Given the description of an element on the screen output the (x, y) to click on. 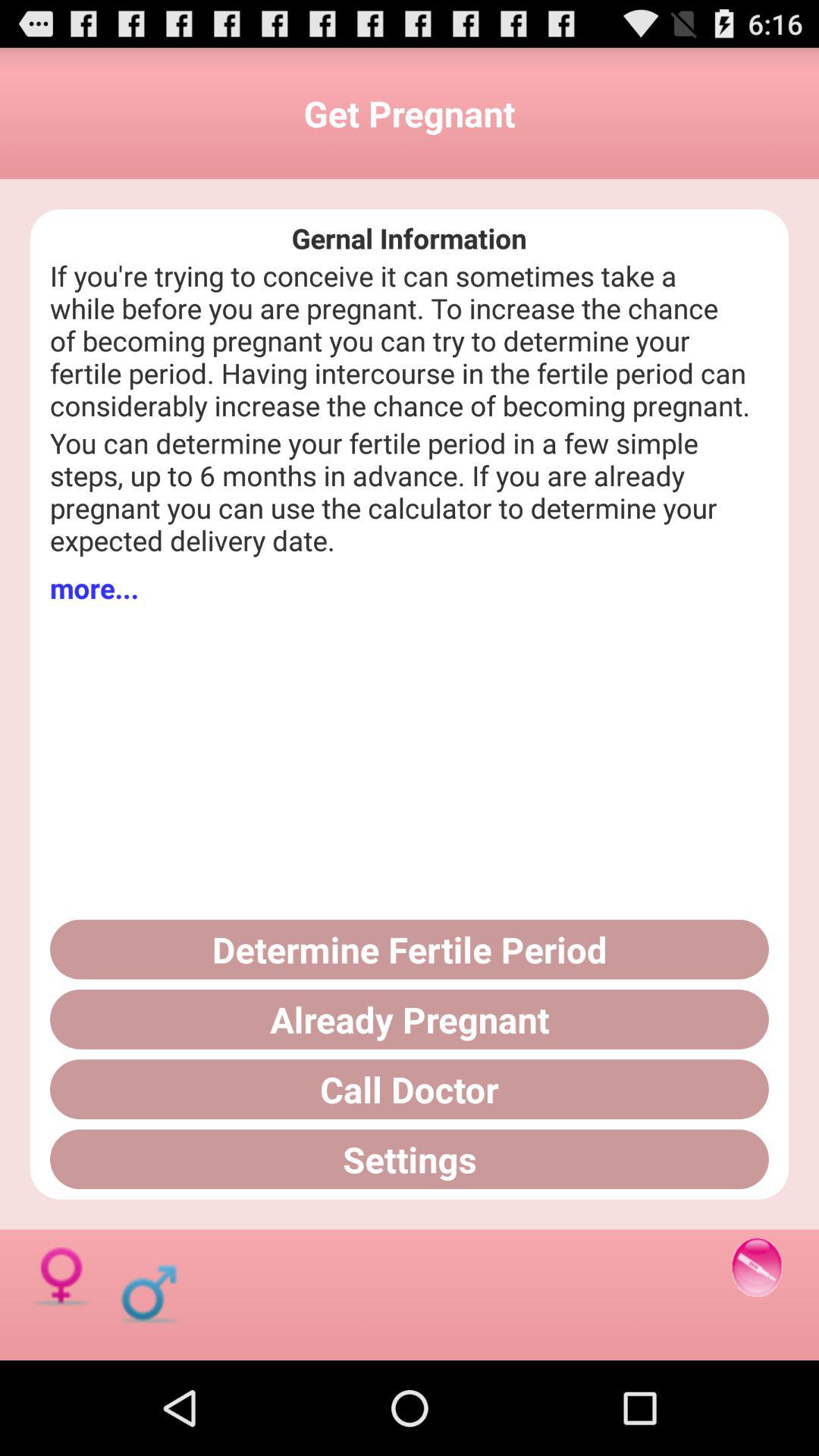
turn off button above settings item (409, 1089)
